Given the description of an element on the screen output the (x, y) to click on. 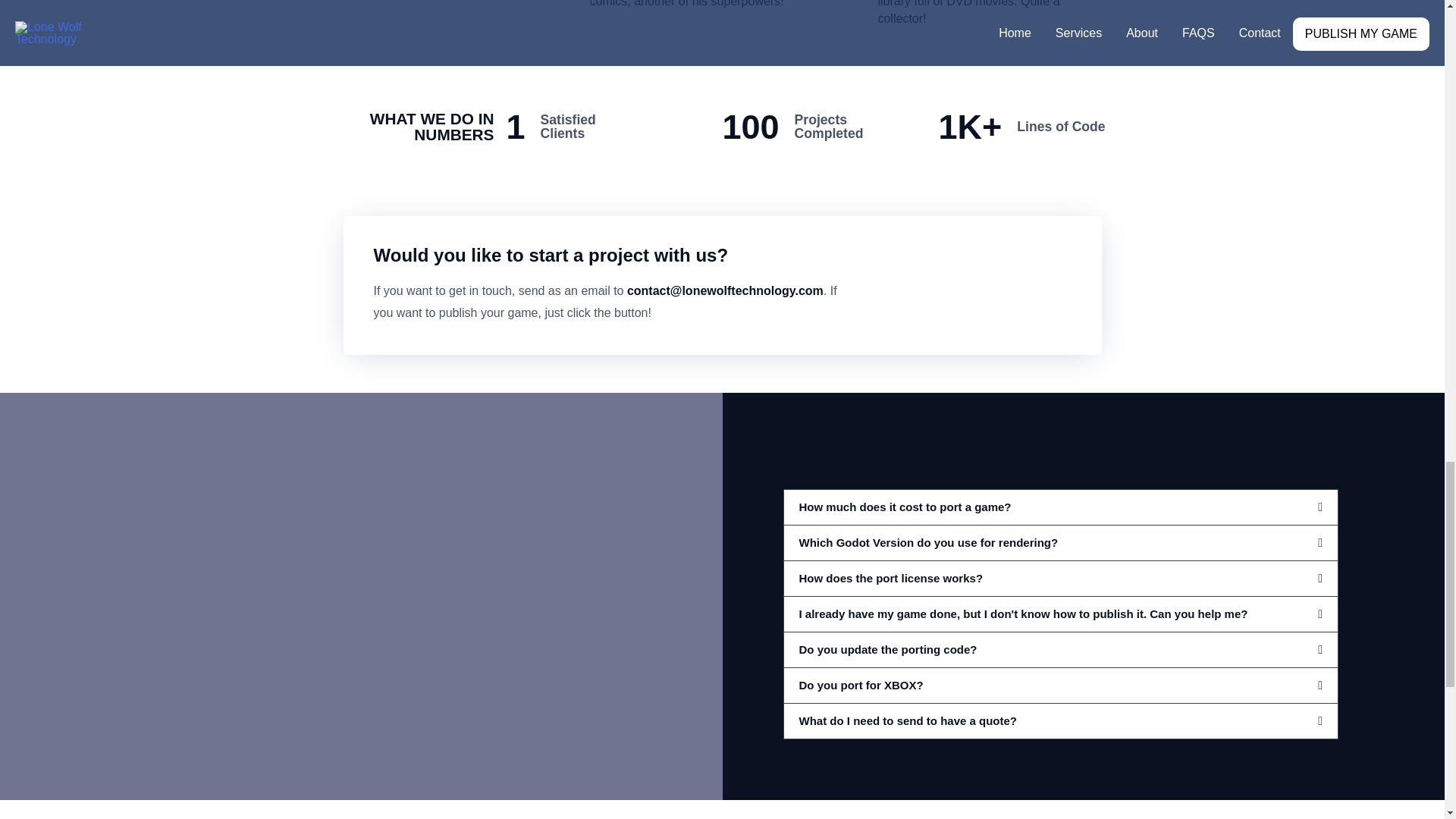
Do you update the porting code? (887, 649)
How does the port license works? (891, 577)
Which Godot Version do you use for rendering? (928, 542)
What do I need to send to have a quote? (908, 720)
How much does it cost to port a game? (905, 506)
Do you port for XBOX? (861, 684)
